Given the description of an element on the screen output the (x, y) to click on. 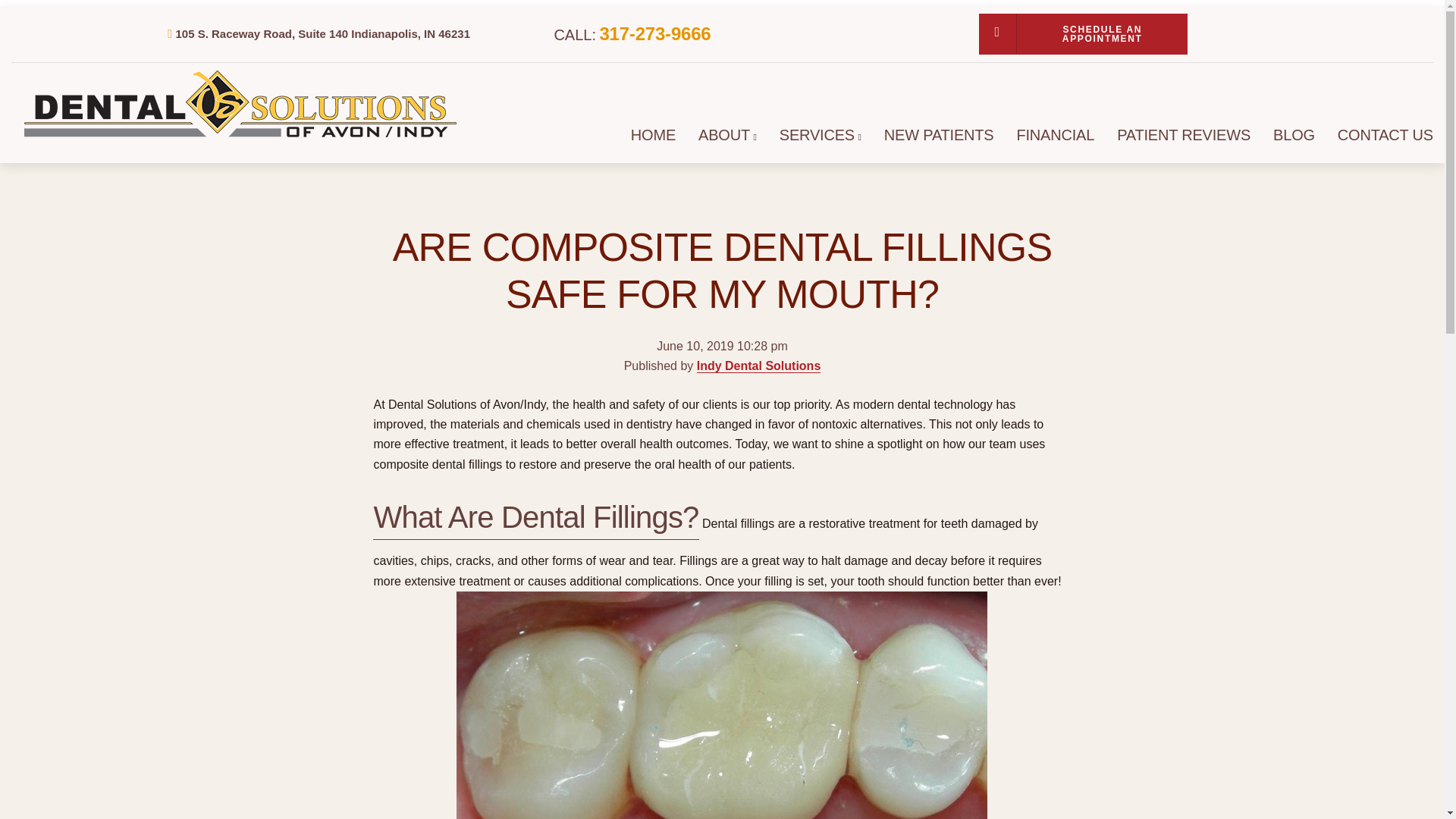
SCHEDULE AN APPOINTMENT (1083, 33)
NEW PATIENTS (938, 135)
317-273-9666 (654, 33)
ABOUT (723, 135)
HOME (652, 135)
FINANCIAL (1055, 135)
BLOG (1293, 135)
Indy Dental Solutions (759, 366)
PATIENT REVIEWS (1183, 135)
105 S. Raceway Road, Suite 140 Indianapolis, IN 46231 (322, 33)
